Given the description of an element on the screen output the (x, y) to click on. 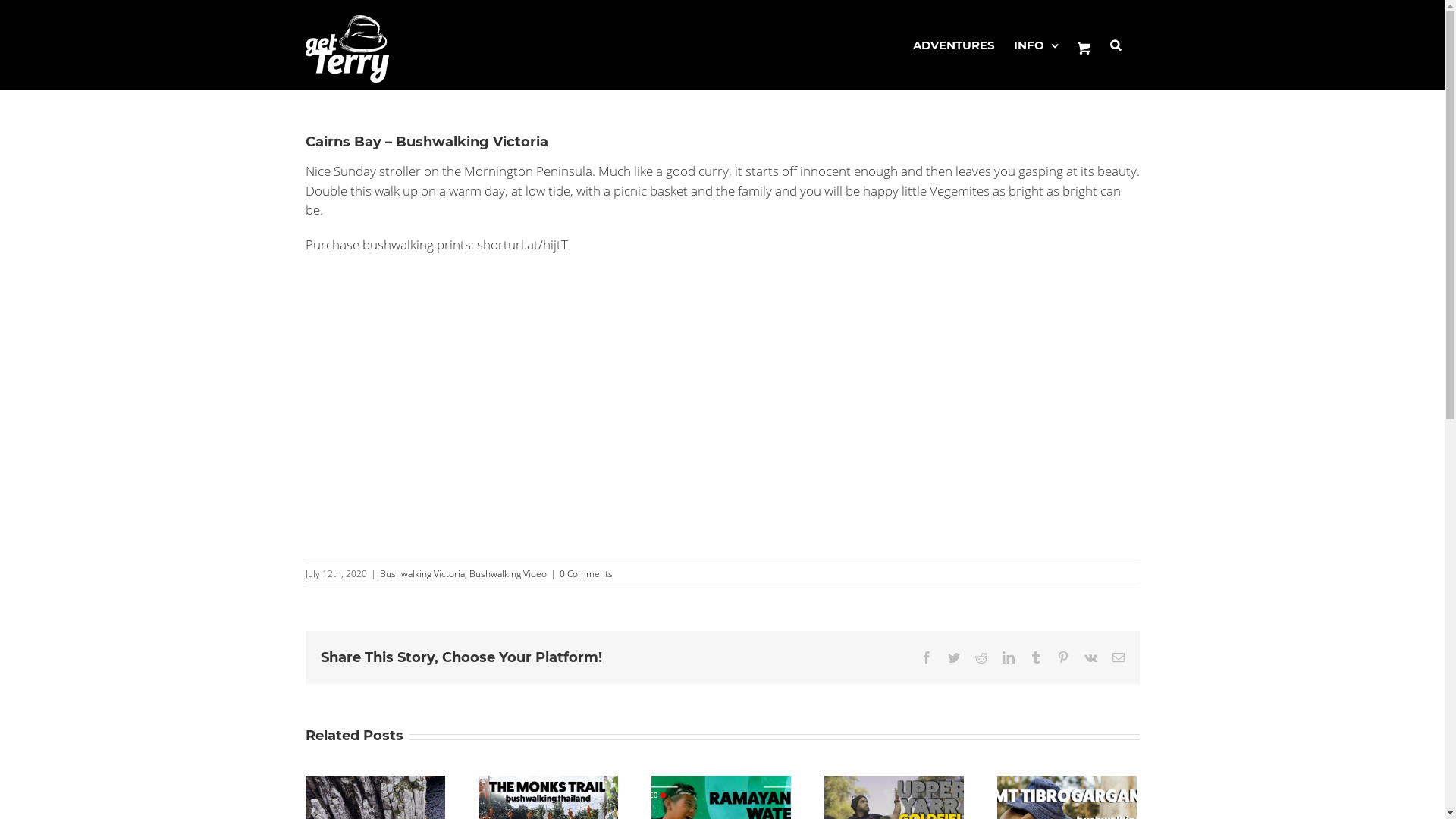
Email Element type: text (1117, 657)
Pinterest Element type: text (1063, 657)
Twitter Element type: text (953, 657)
Vk Element type: text (1090, 657)
LinkedIn Element type: text (1008, 657)
INFO Element type: text (1035, 45)
Facebook Element type: text (926, 657)
CART Element type: text (1083, 45)
Tumblr Element type: text (1035, 657)
Bushwalking Victoria Element type: text (421, 573)
Reddit Element type: text (981, 657)
Bushwalking Video Element type: text (507, 573)
ADVENTURES Element type: text (953, 45)
Search Element type: hover (1115, 45)
0 Comments Element type: text (585, 573)
